Given the description of an element on the screen output the (x, y) to click on. 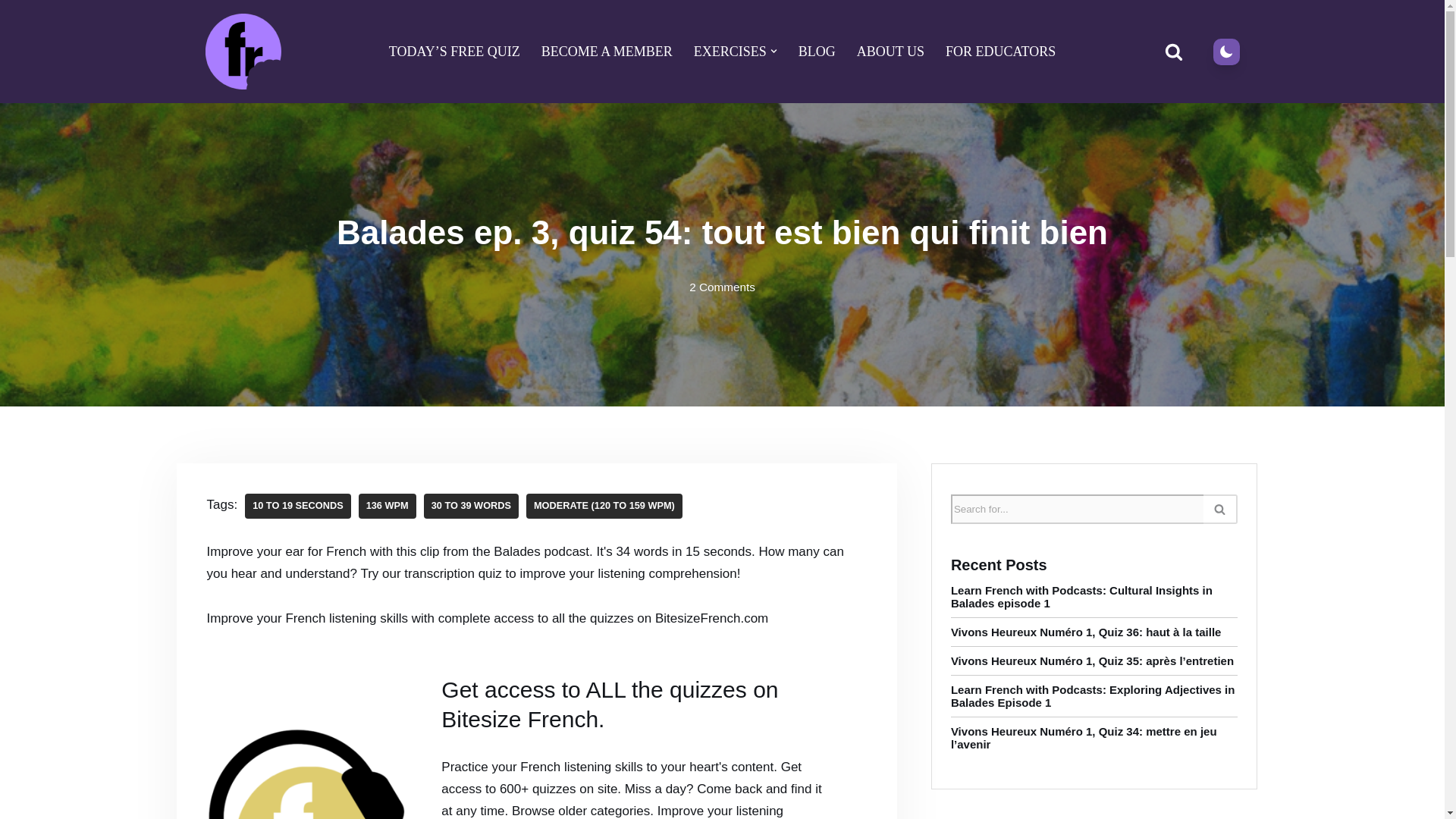
10 to 19 seconds (297, 505)
ABOUT US (890, 51)
BLOG (816, 51)
Skip to content (11, 31)
FOR EDUCATORS (999, 51)
30 to 39 words (470, 505)
EXERCISES (730, 51)
BECOME A MEMBER (606, 51)
136 wpm (387, 505)
